Given the description of an element on the screen output the (x, y) to click on. 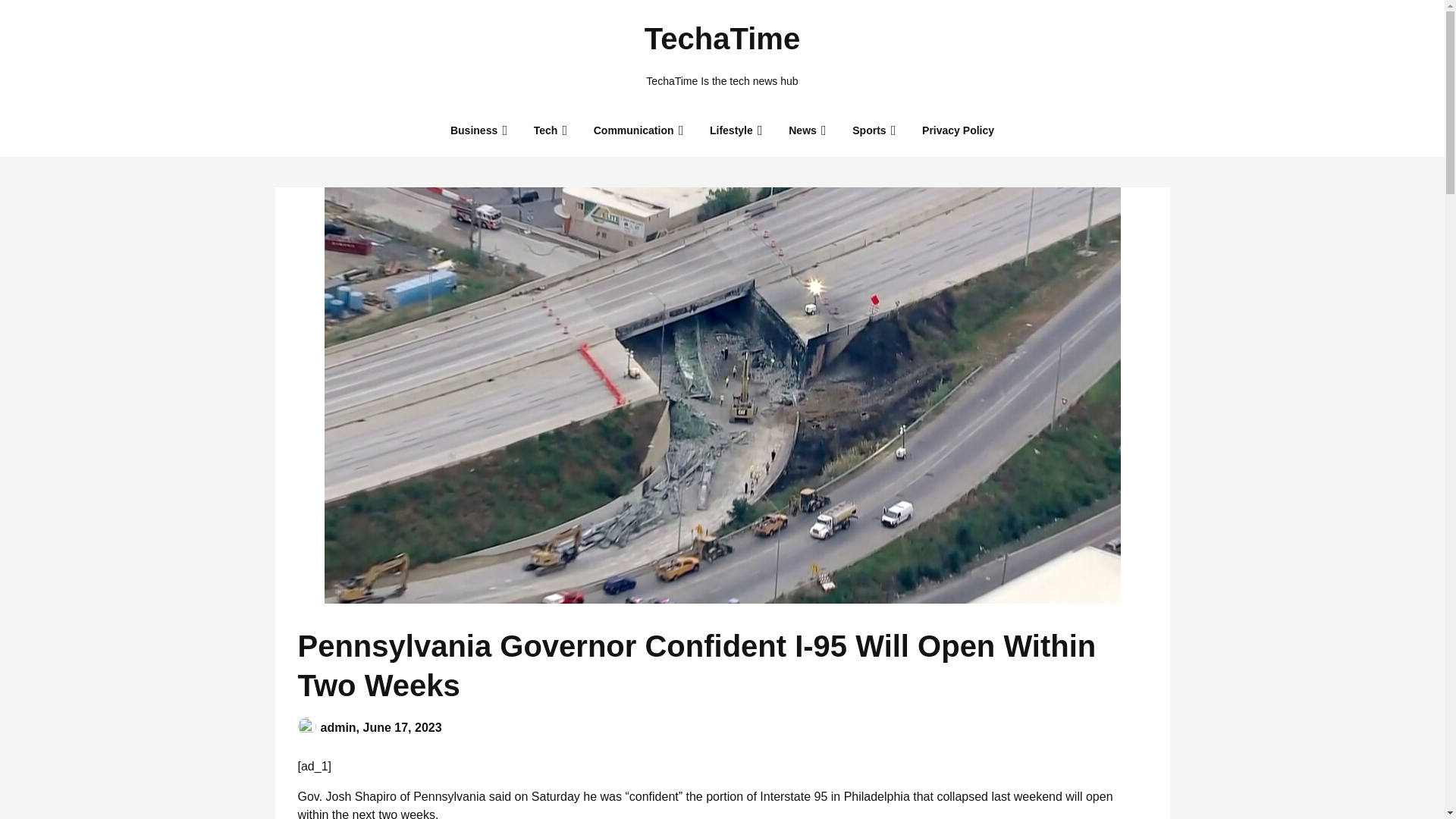
News (802, 130)
Communication (632, 130)
Sports (869, 130)
Lifestyle (731, 130)
Business (473, 130)
Privacy Policy (958, 130)
Tech (545, 130)
June 17, 2023 (402, 726)
TechaTime (722, 38)
